Given the description of an element on the screen output the (x, y) to click on. 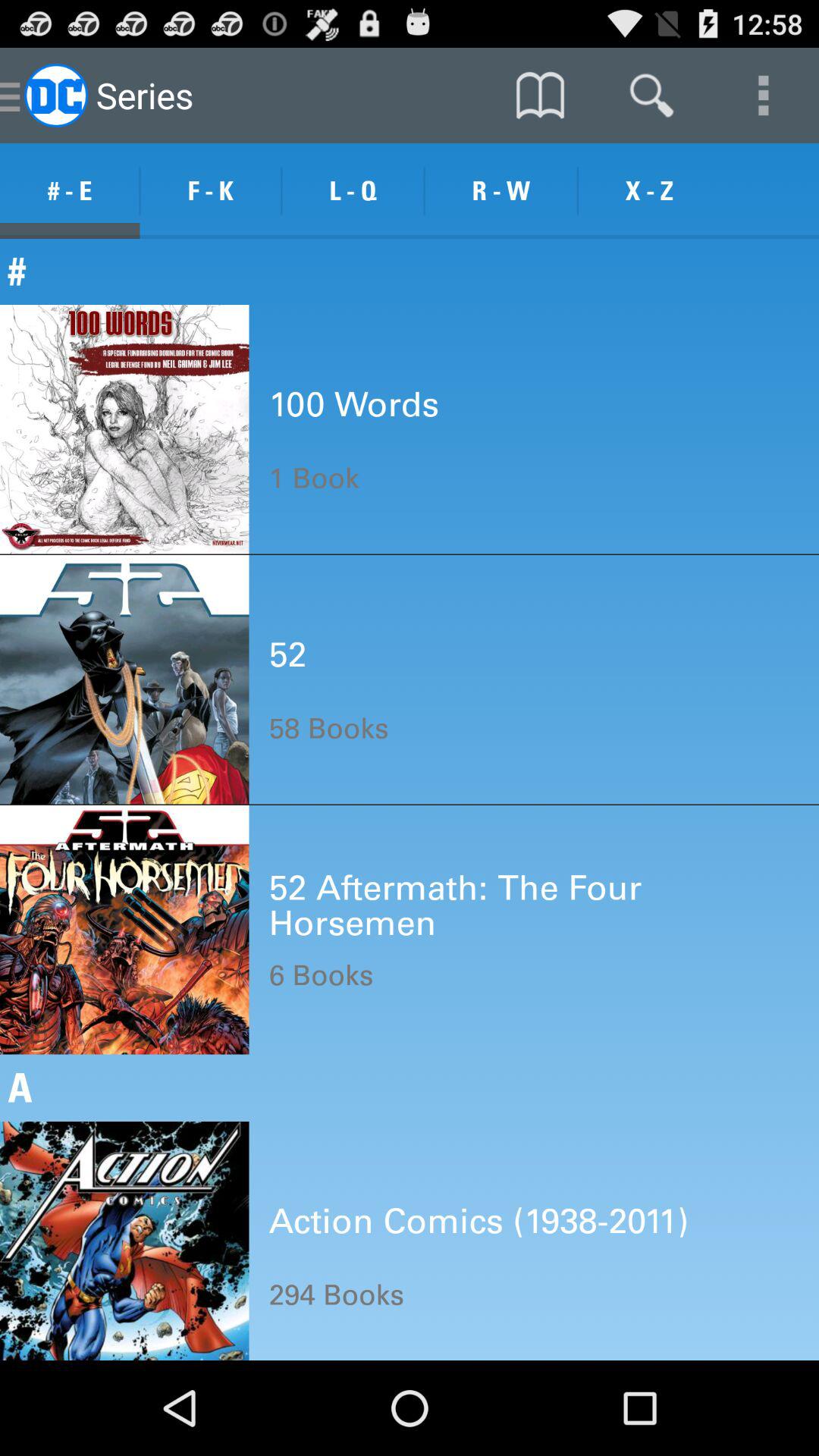
turn on the item next to the x - z icon (500, 190)
